Given the description of an element on the screen output the (x, y) to click on. 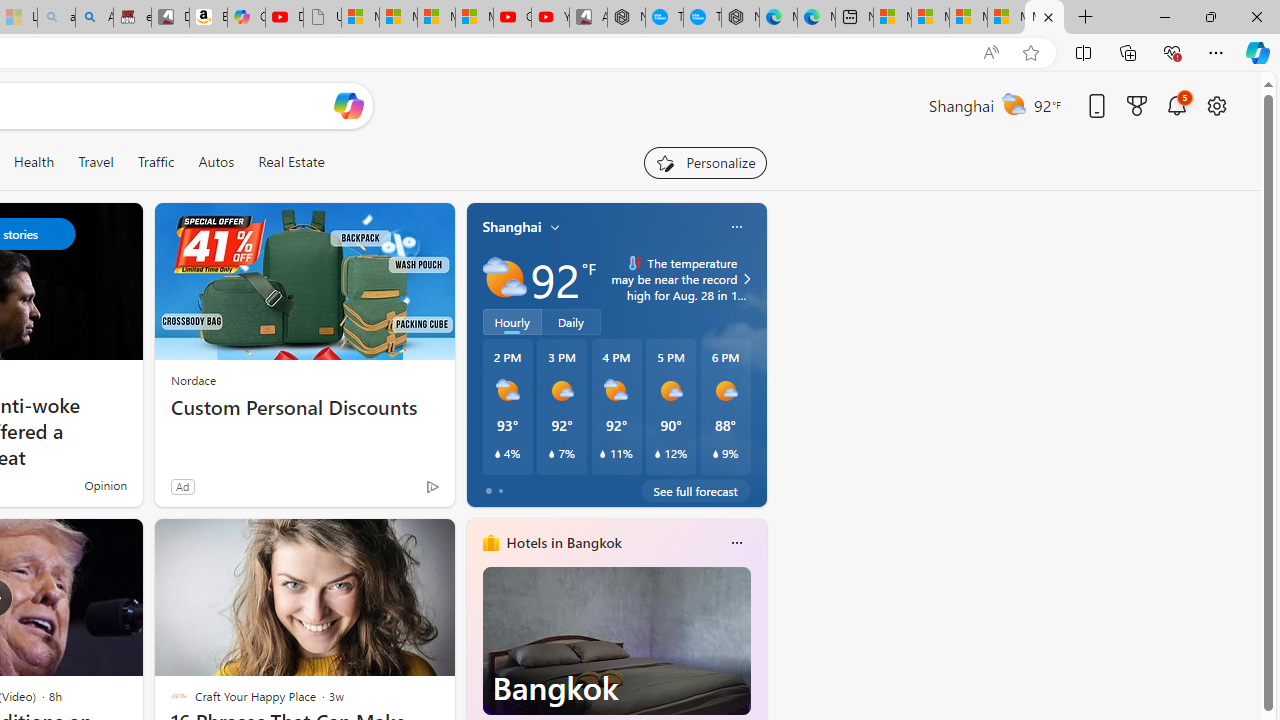
Microsoft account | Microsoft Account Privacy Settings (929, 17)
Restore (1210, 16)
Partly sunny (504, 278)
Traffic (155, 162)
Hotels in Bangkok (563, 543)
Ad (182, 486)
amazon - Search - Sleeping (56, 17)
next (756, 670)
The most popular Google 'how to' searches (701, 17)
Minimize (1164, 16)
Notifications (1176, 105)
